Given the description of an element on the screen output the (x, y) to click on. 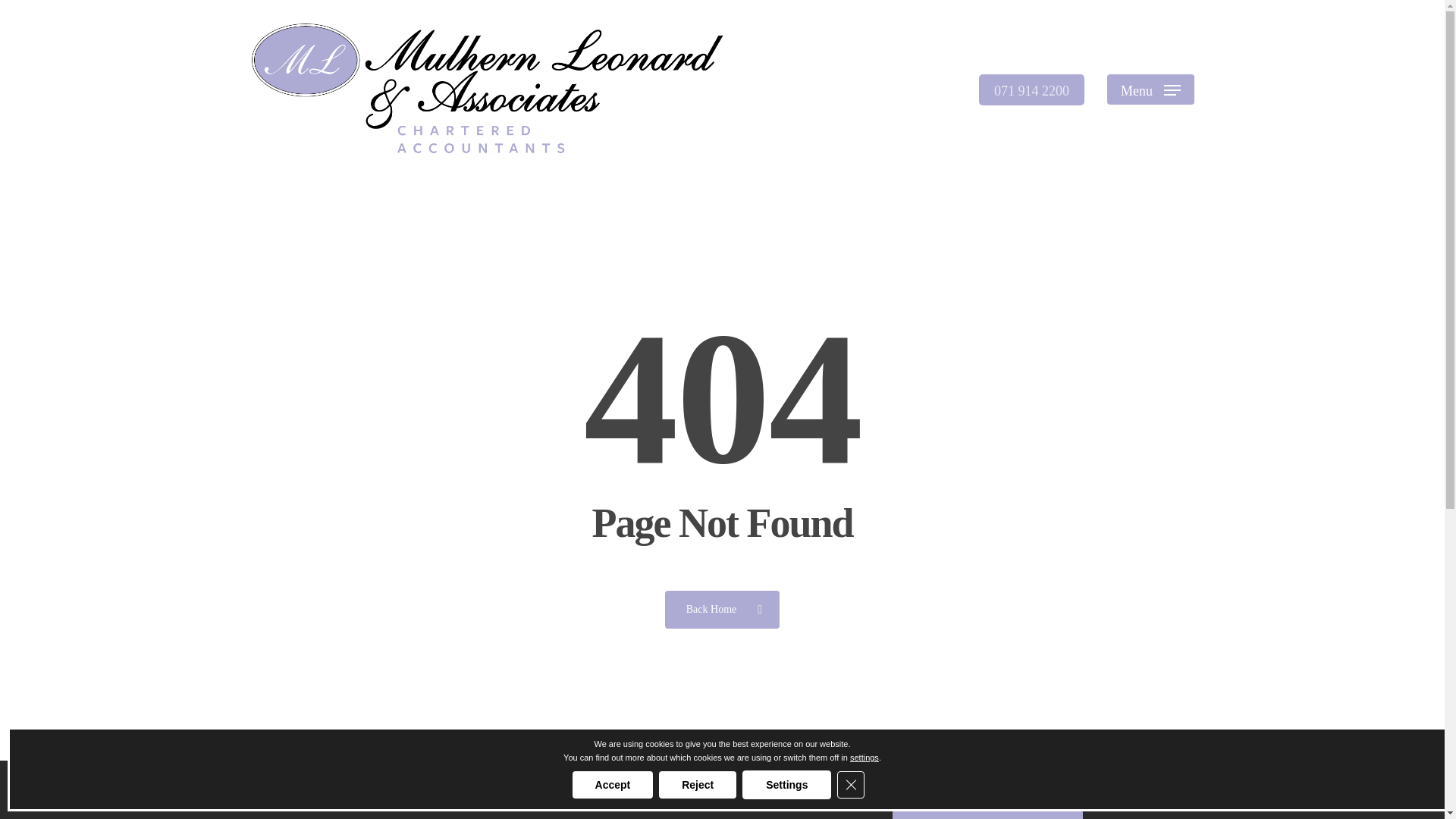
Menu (1149, 89)
071 914 2200 (1031, 89)
Back Home (721, 608)
